Given the description of an element on the screen output the (x, y) to click on. 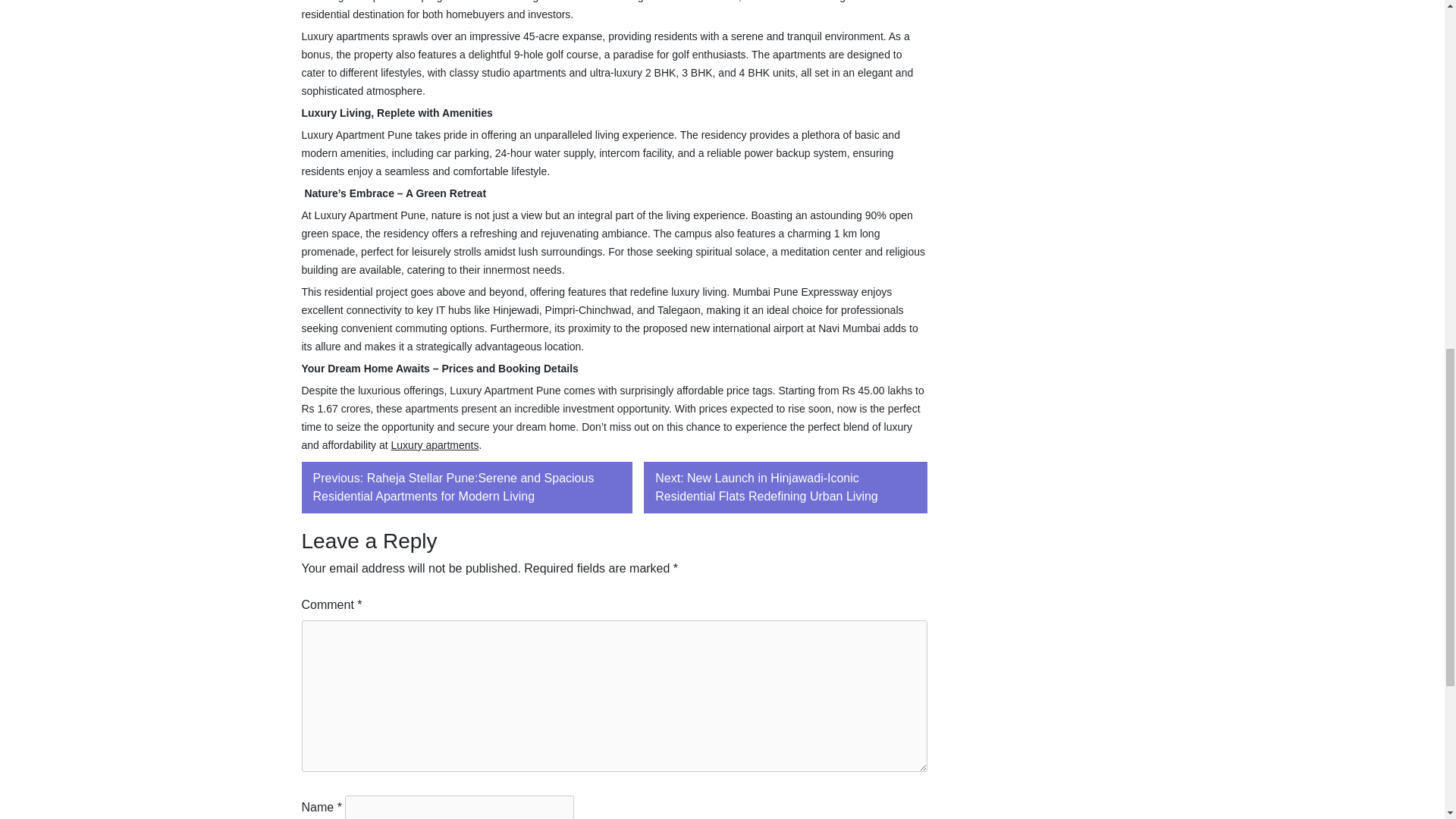
Luxury apartments (435, 444)
